Given the description of an element on the screen output the (x, y) to click on. 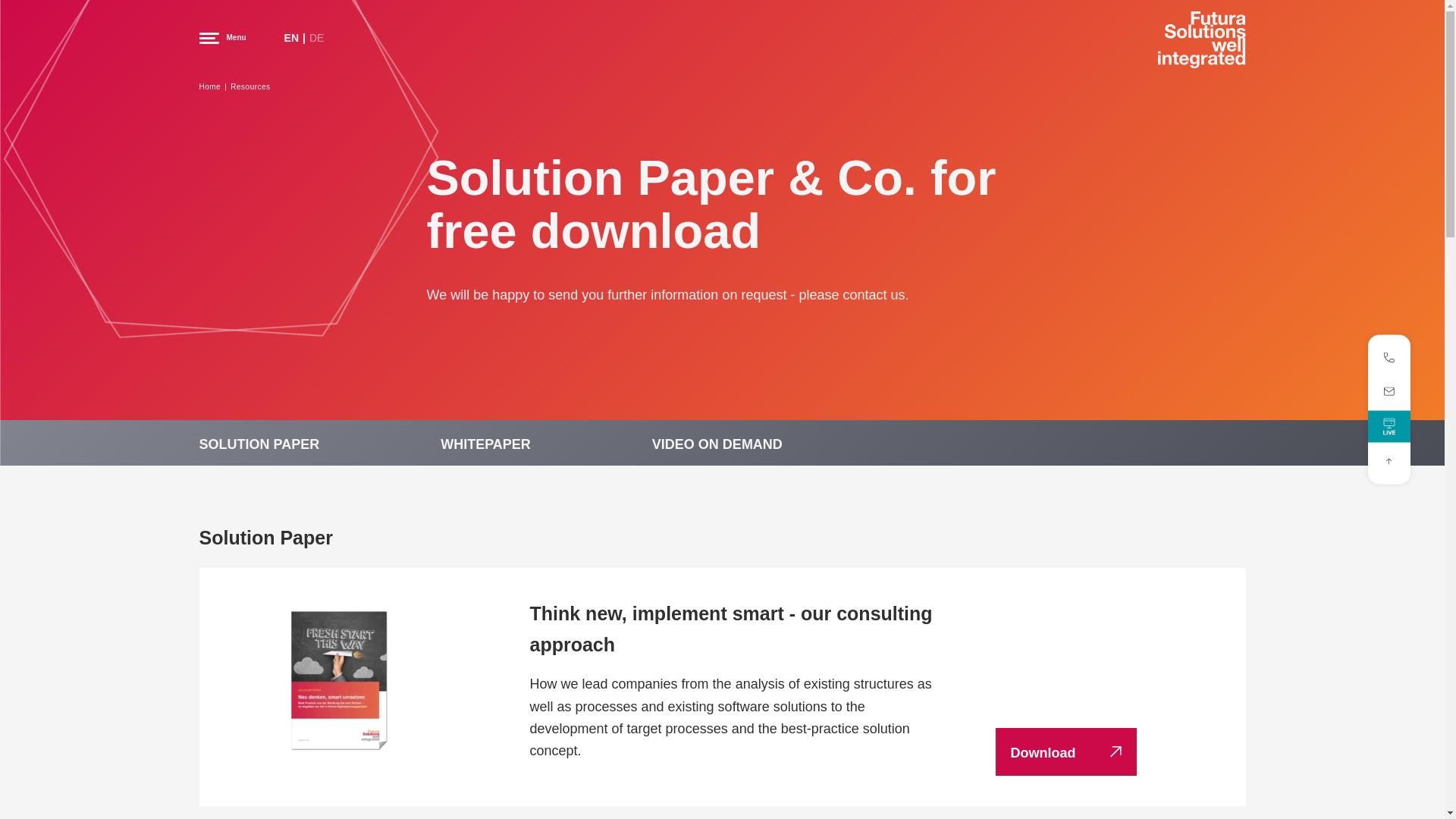
VIDEO ON DEMAND (717, 444)
Download (1064, 751)
DE (315, 37)
Home (209, 87)
Language switcher : German (315, 37)
SOLUTION PAPER (258, 444)
0 (1389, 461)
WHITEPAPER (486, 444)
